Given the description of an element on the screen output the (x, y) to click on. 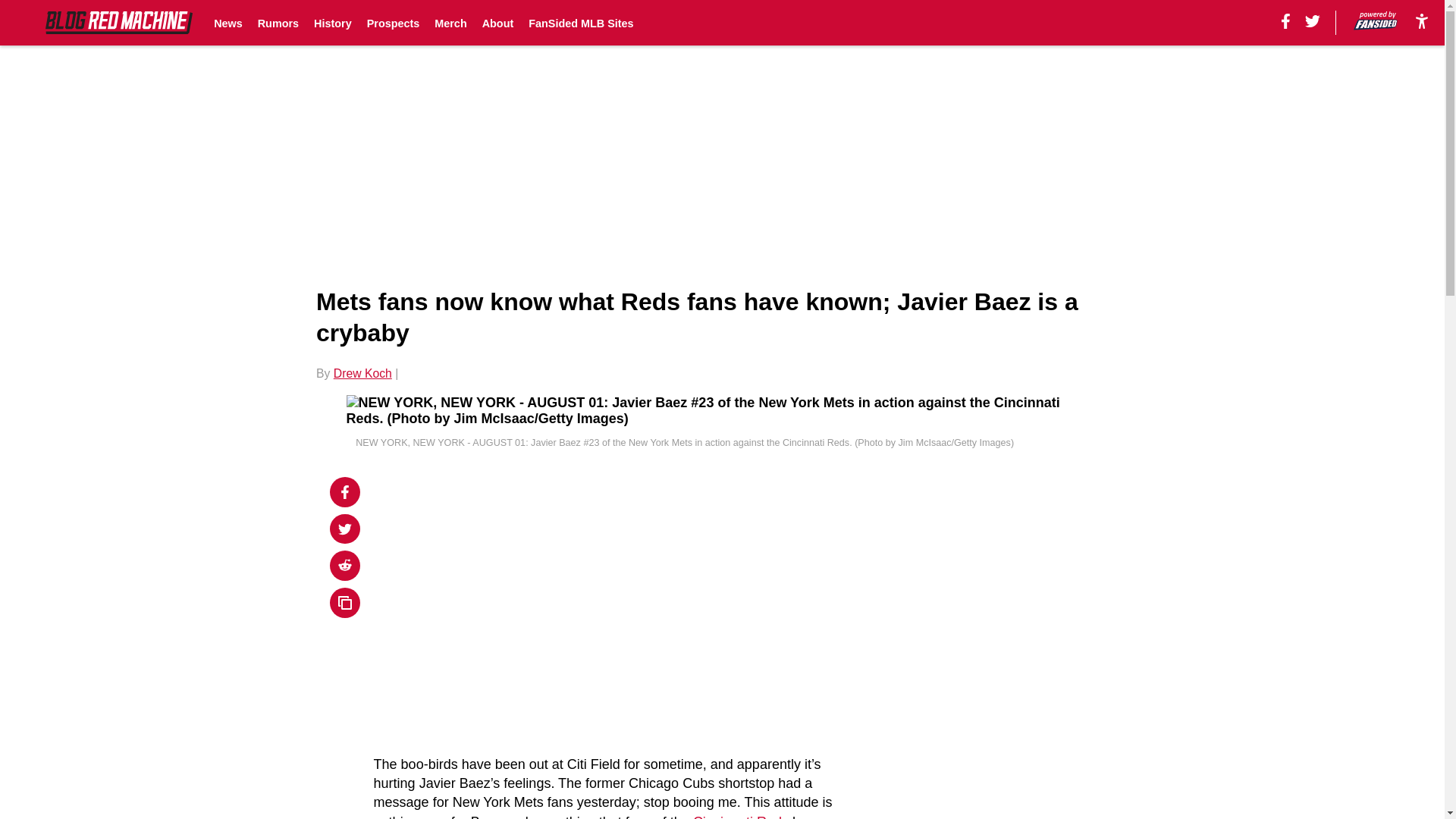
History (333, 23)
Merch (449, 23)
Prospects (393, 23)
News (228, 23)
Rumors (277, 23)
Cincinnati Reds (741, 816)
FanSided MLB Sites (580, 23)
About (497, 23)
Drew Koch (362, 373)
